Given the description of an element on the screen output the (x, y) to click on. 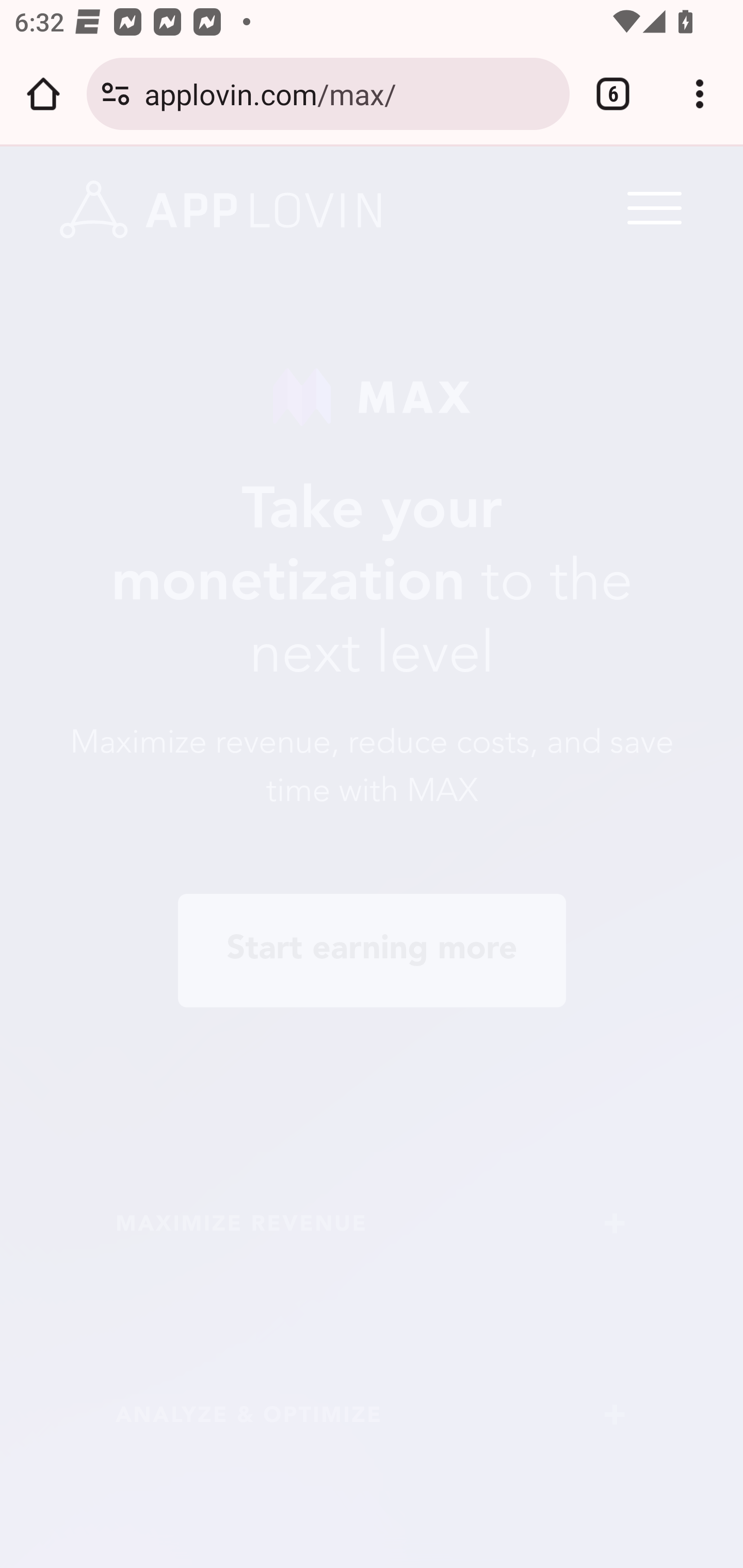
Open the home page (43, 93)
Connection is secure (115, 93)
Switch or close tabs (612, 93)
Customize and control Google Chrome (699, 93)
applovin.com/max/ (349, 92)
Menu Trigger (650, 207)
www.applovin (220, 209)
Start earning more (371, 950)
